Given the description of an element on the screen output the (x, y) to click on. 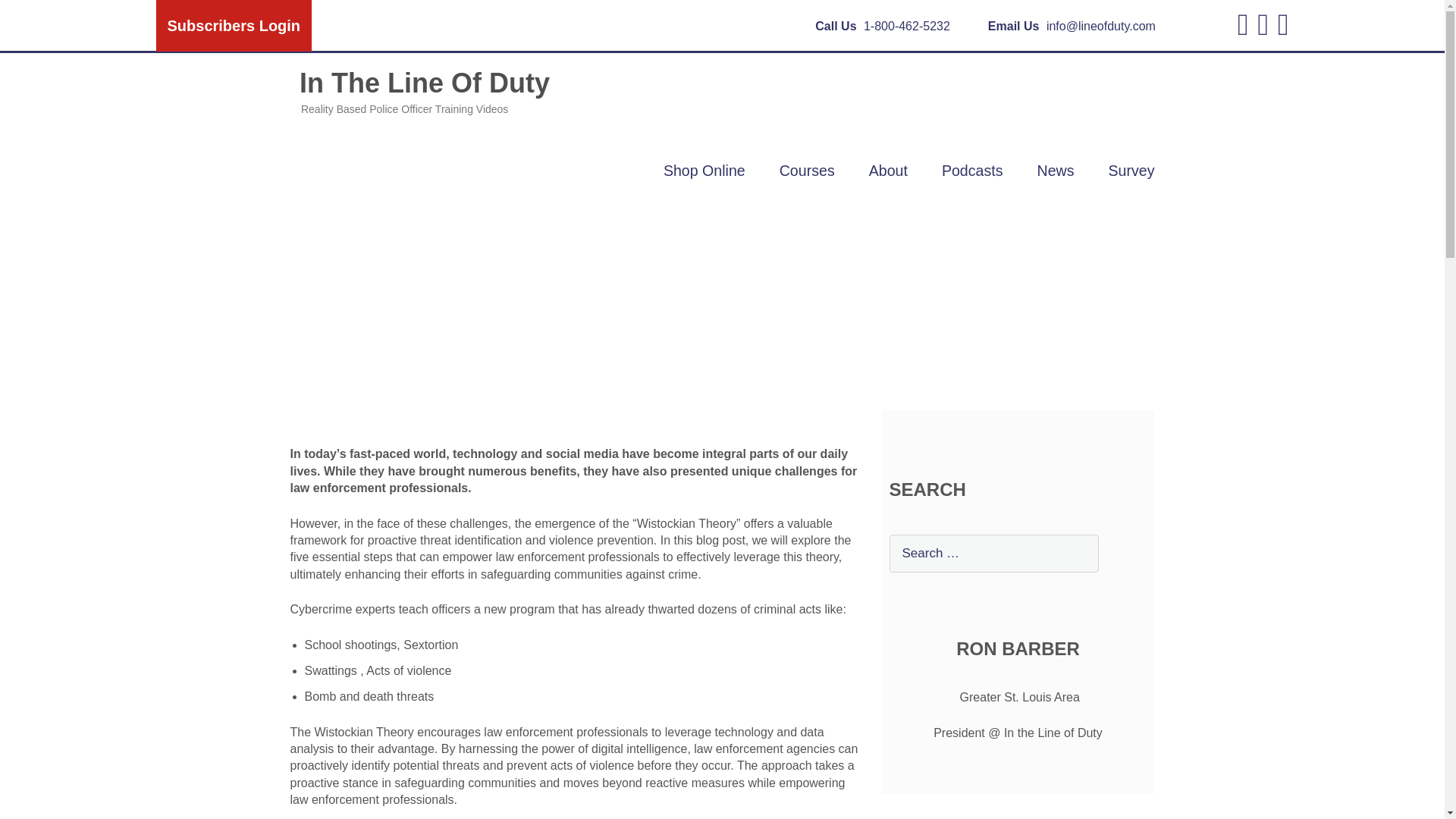
Shop Online (704, 170)
Survey (1131, 170)
Subscribers Login (233, 25)
About (888, 170)
News (1055, 170)
In The Line Of Duty (418, 91)
Podcasts (972, 170)
Courses (806, 170)
Search for: (992, 553)
